Given the description of an element on the screen output the (x, y) to click on. 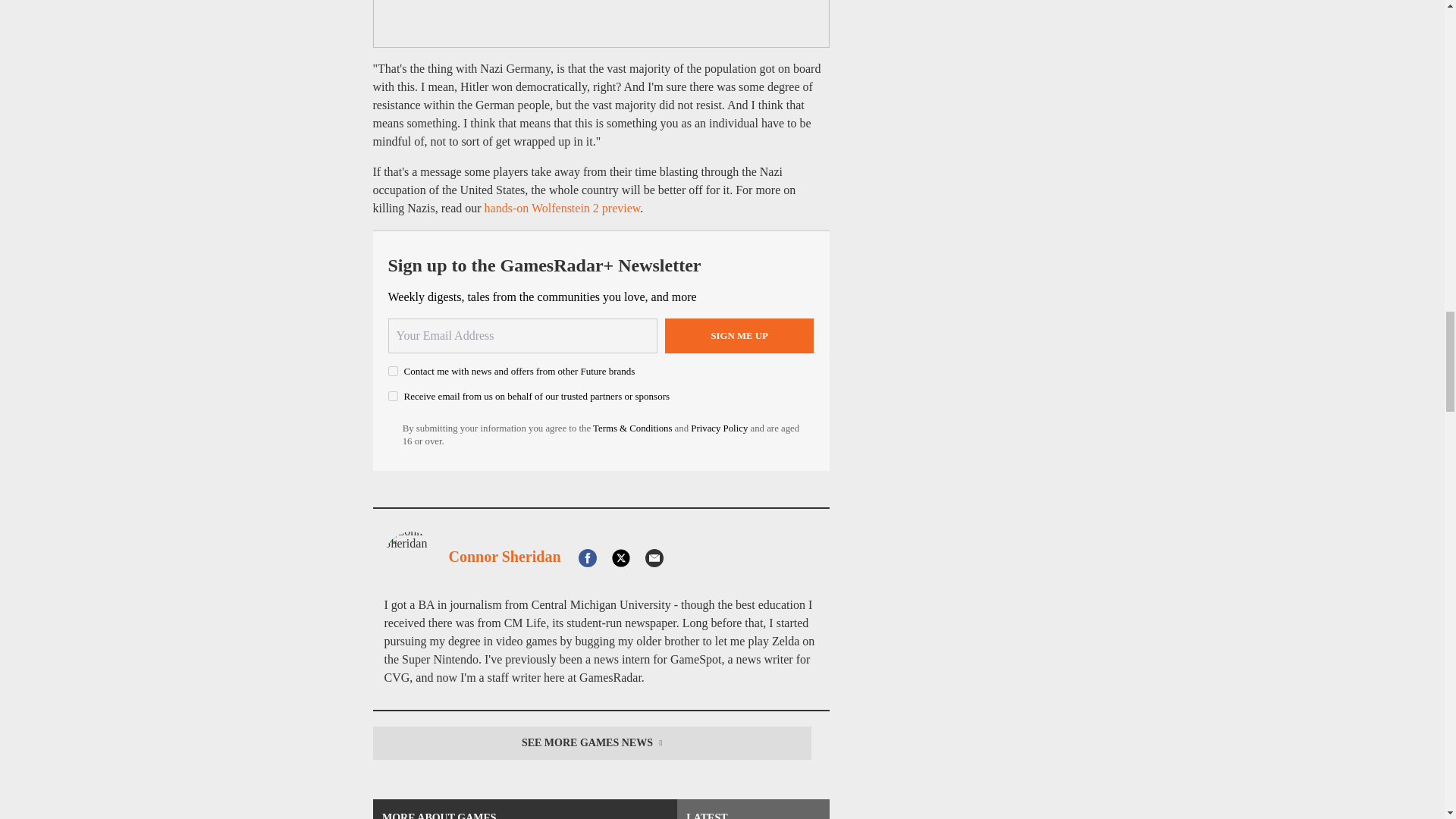
Sign me up (739, 335)
on (392, 396)
on (392, 370)
